Given the description of an element on the screen output the (x, y) to click on. 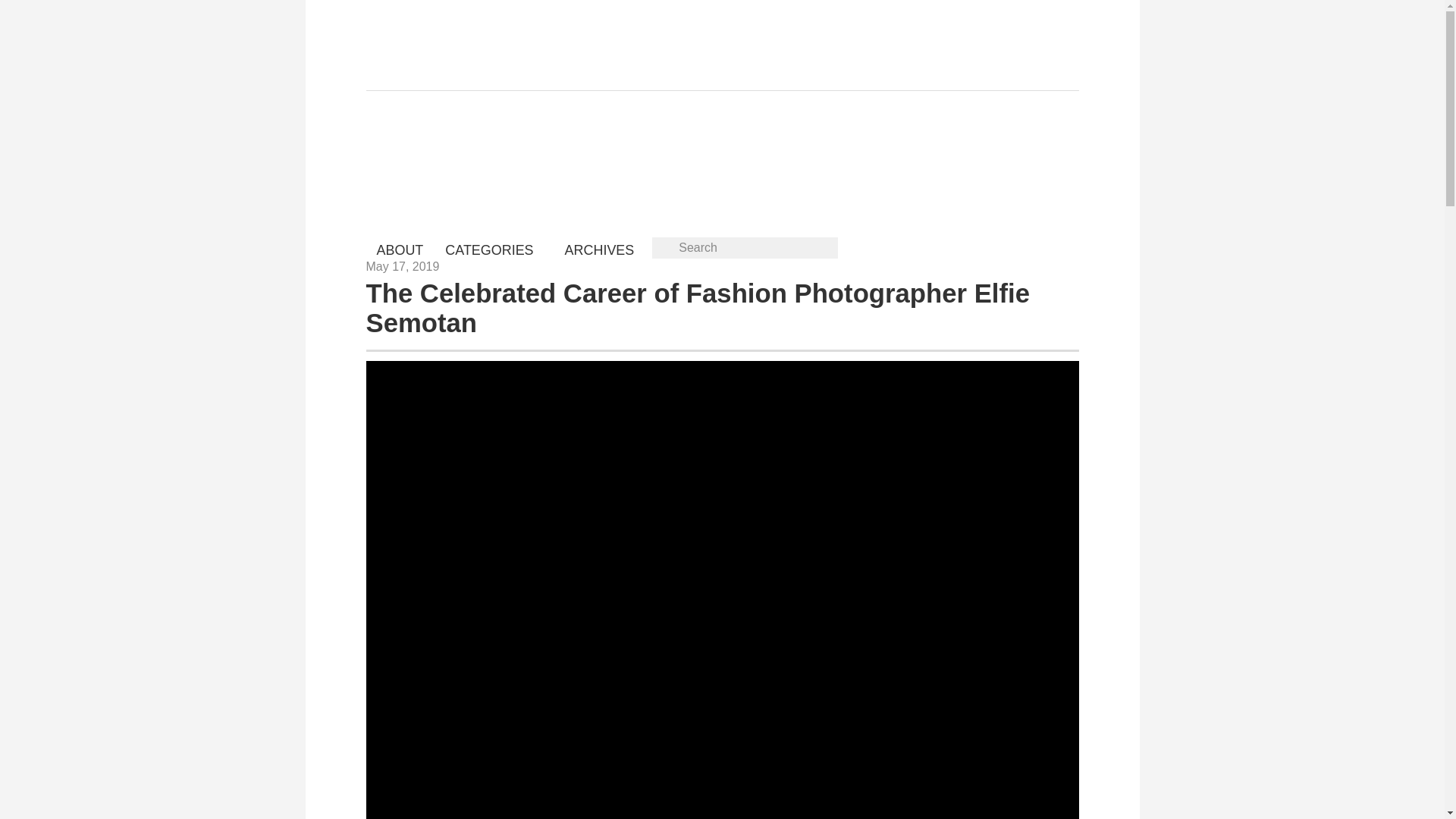
PDN Photo of the Day (478, 147)
ABOUT (399, 250)
The Celebrated Career of Fashion Photographer Elfie Semotan (697, 308)
Search (745, 247)
ARCHIVES (599, 250)
CATEGORIES (493, 250)
